Given the description of an element on the screen output the (x, y) to click on. 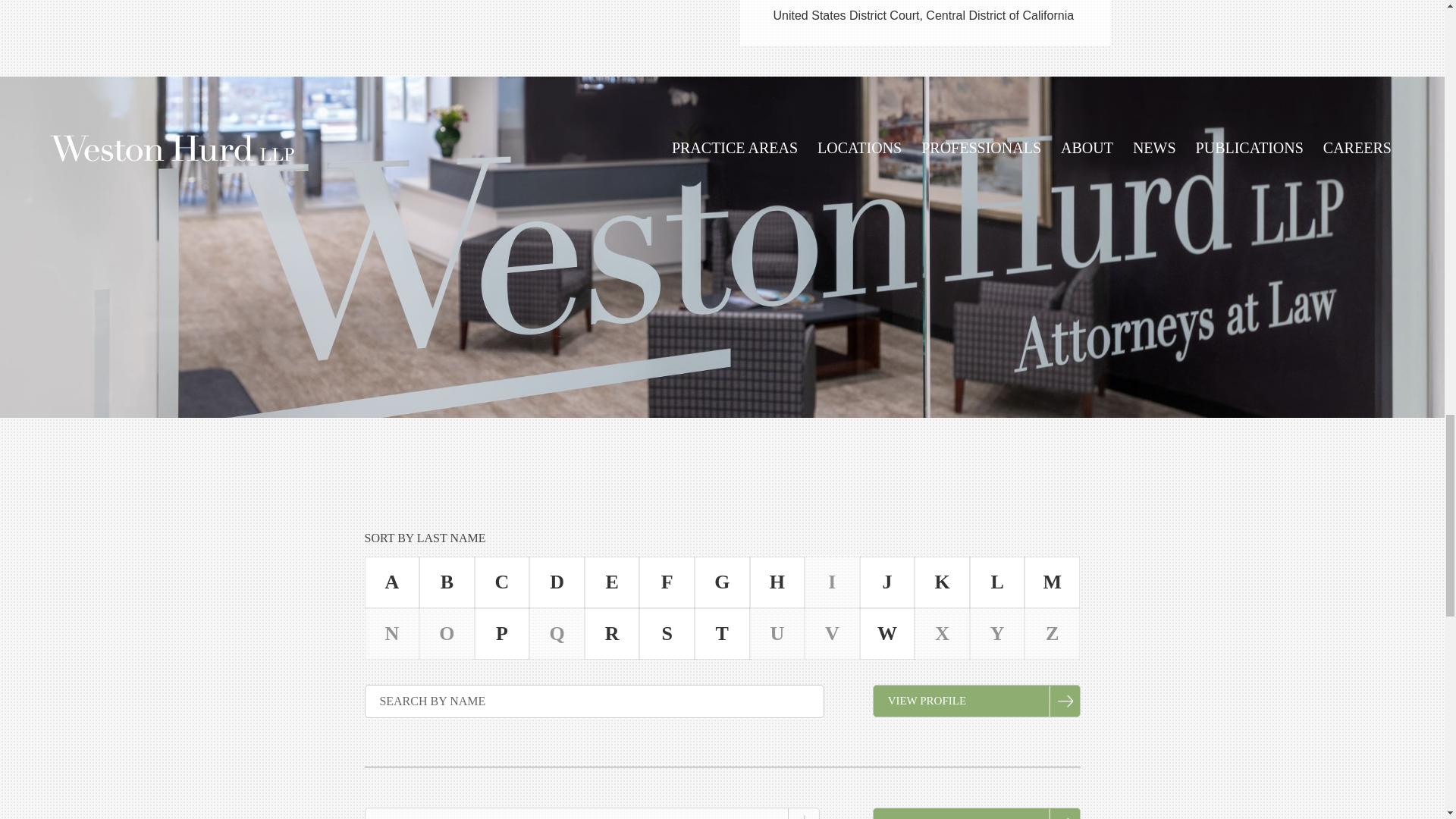
VIEW PROFILE (976, 701)
SEARCH BY NAME (594, 701)
VIEW RESULTS (976, 813)
